Given the description of an element on the screen output the (x, y) to click on. 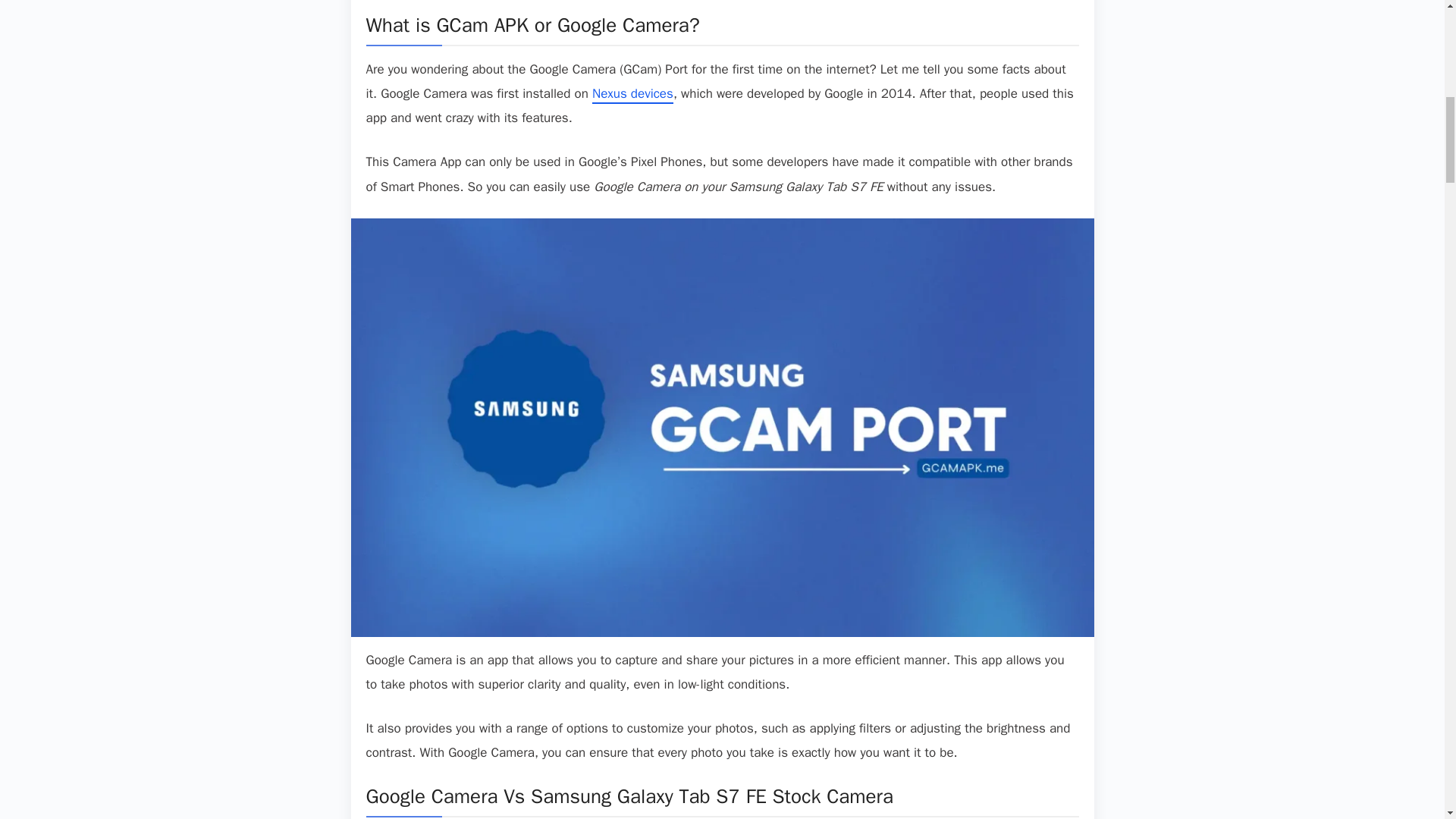
Scroll back to top (1406, 720)
Nexus devices (632, 94)
